Given the description of an element on the screen output the (x, y) to click on. 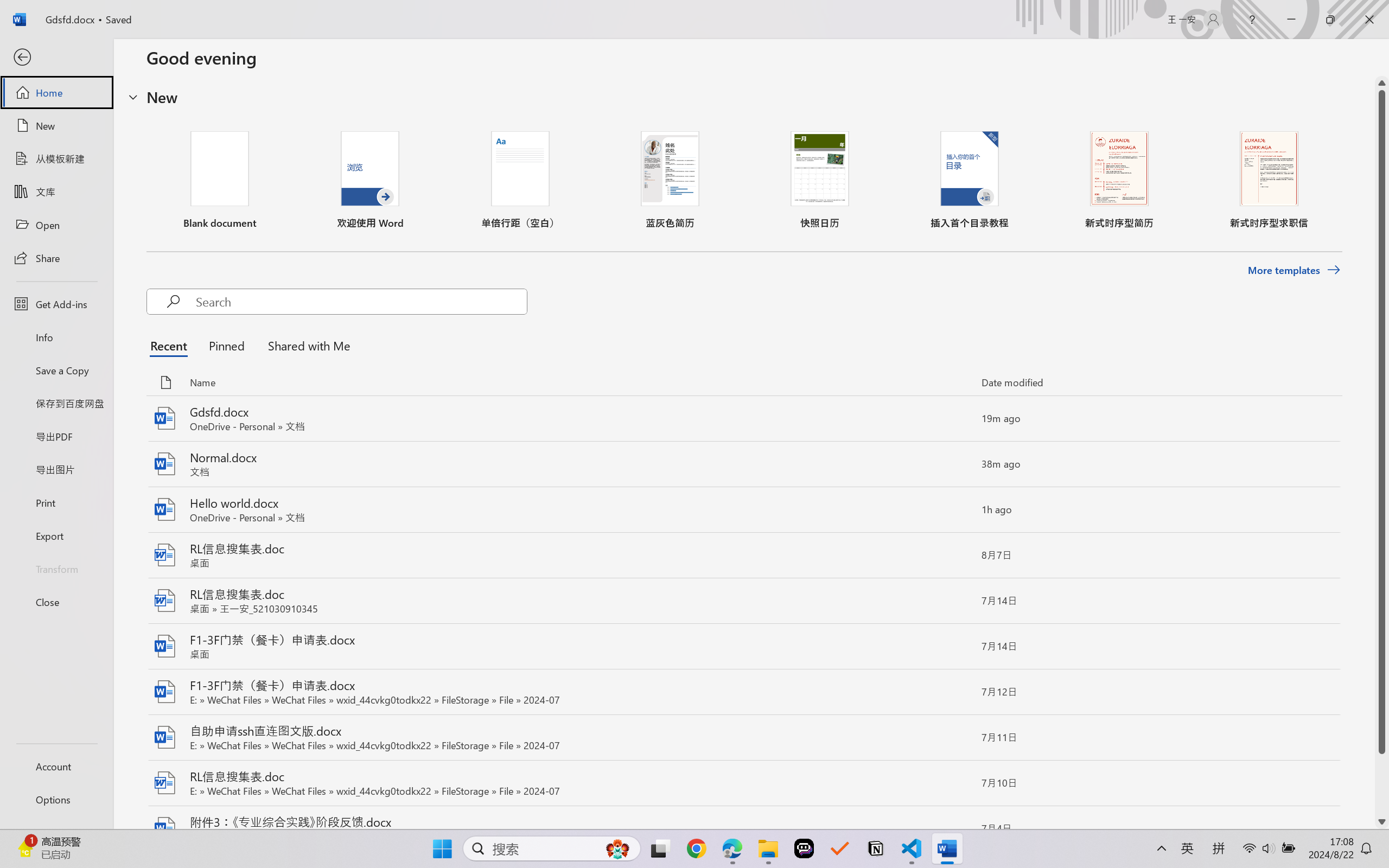
Transform (56, 568)
Back (56, 57)
Recent (171, 345)
Hello world.docx (743, 509)
Hide or show region (133, 96)
Pin this item to the list (954, 828)
Info (56, 337)
Line down (1382, 821)
